Given the description of an element on the screen output the (x, y) to click on. 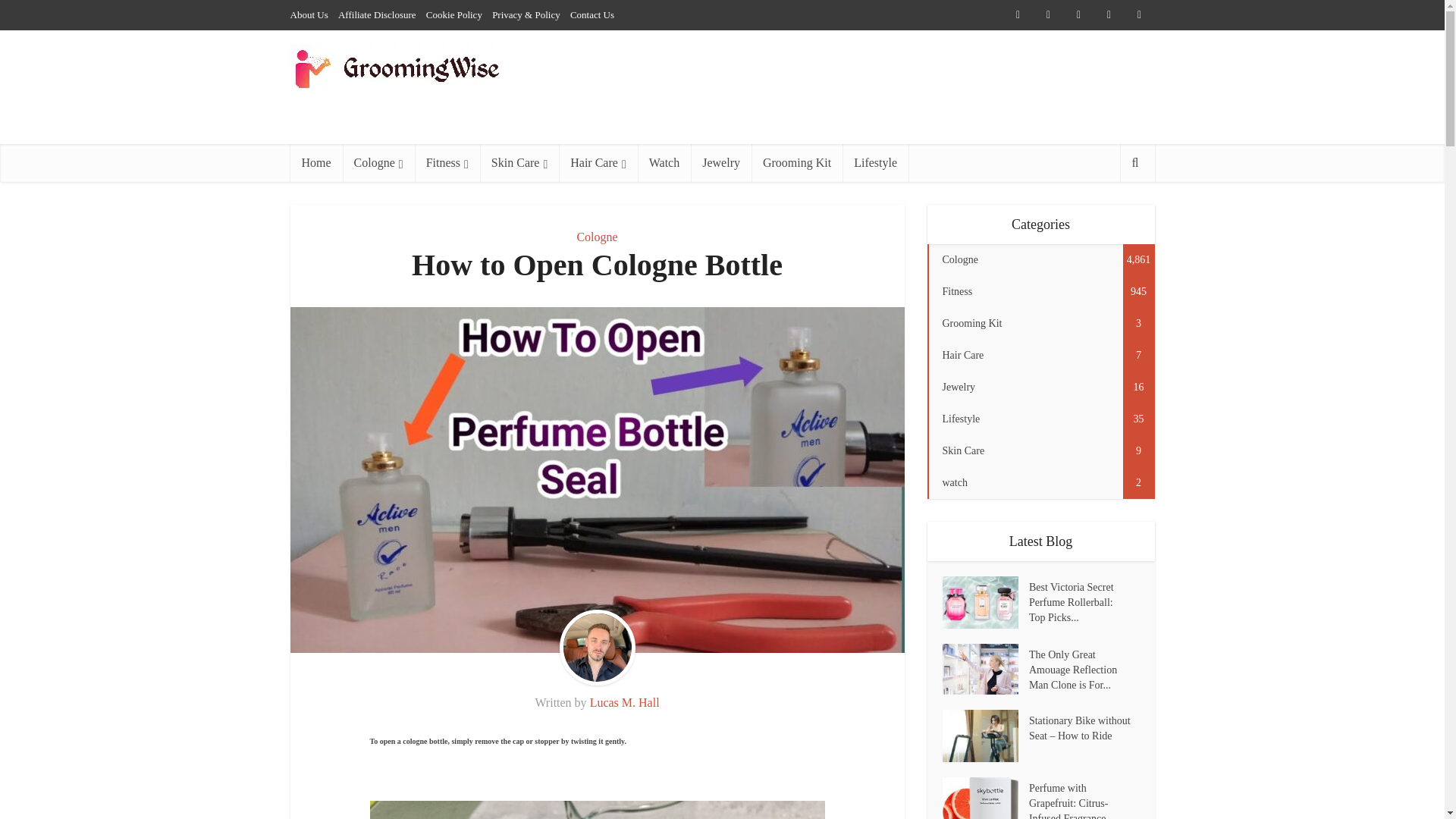
Cologne (378, 162)
Home (315, 162)
Affiliate Disclosure (376, 14)
Cookie Policy (453, 14)
Skin Care (519, 162)
How to Open Cologne Bottle 2 (597, 802)
Contact Us (592, 14)
About Us (308, 14)
Fitness (447, 162)
